Given the description of an element on the screen output the (x, y) to click on. 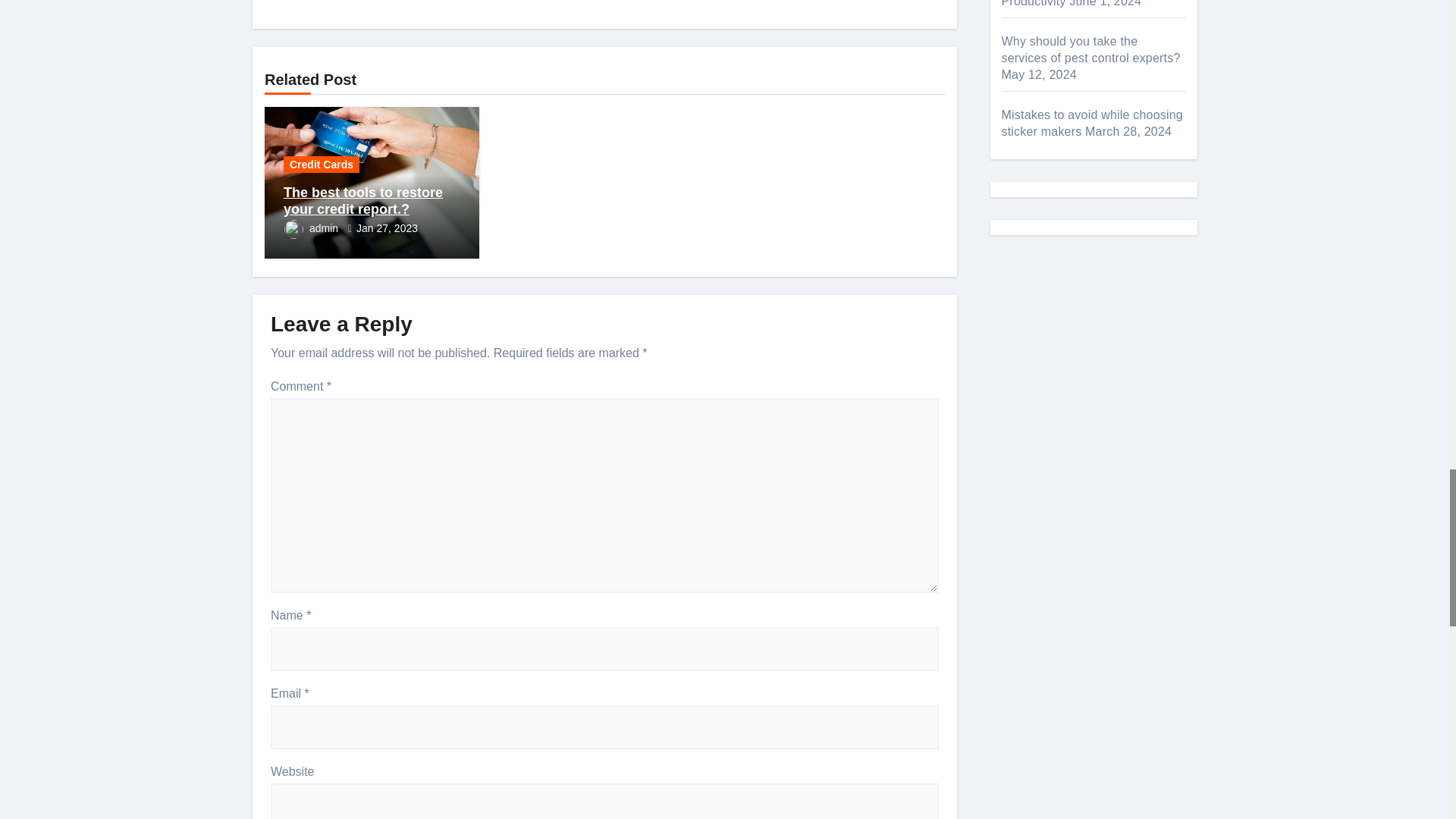
Permalink to: The best tools to restore your credit report.? (362, 201)
